Given the description of an element on the screen output the (x, y) to click on. 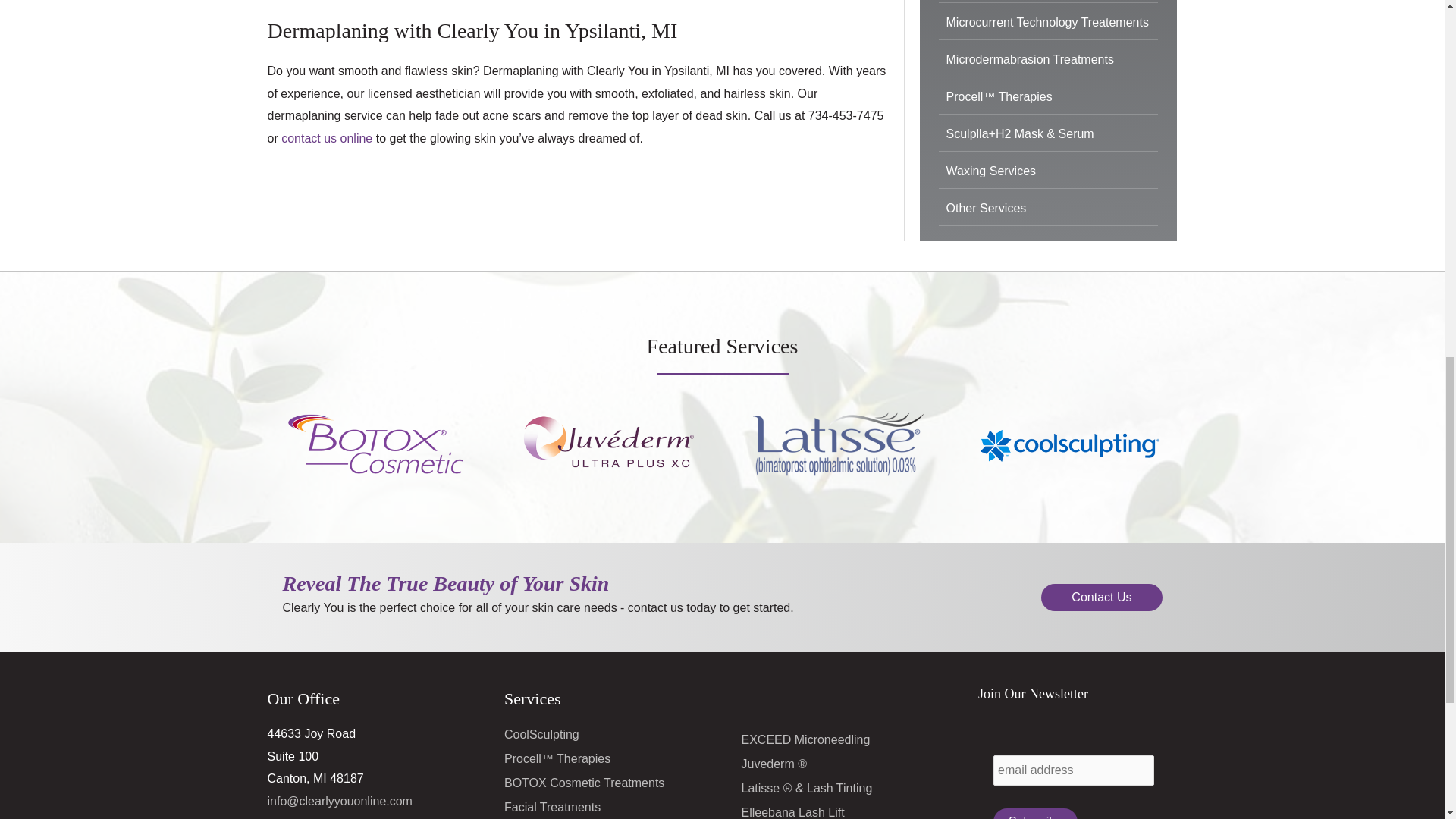
botox (374, 443)
latisse (837, 443)
coolsculpting (1068, 443)
Subscribe (1034, 813)
juvederm (606, 443)
